Given the description of an element on the screen output the (x, y) to click on. 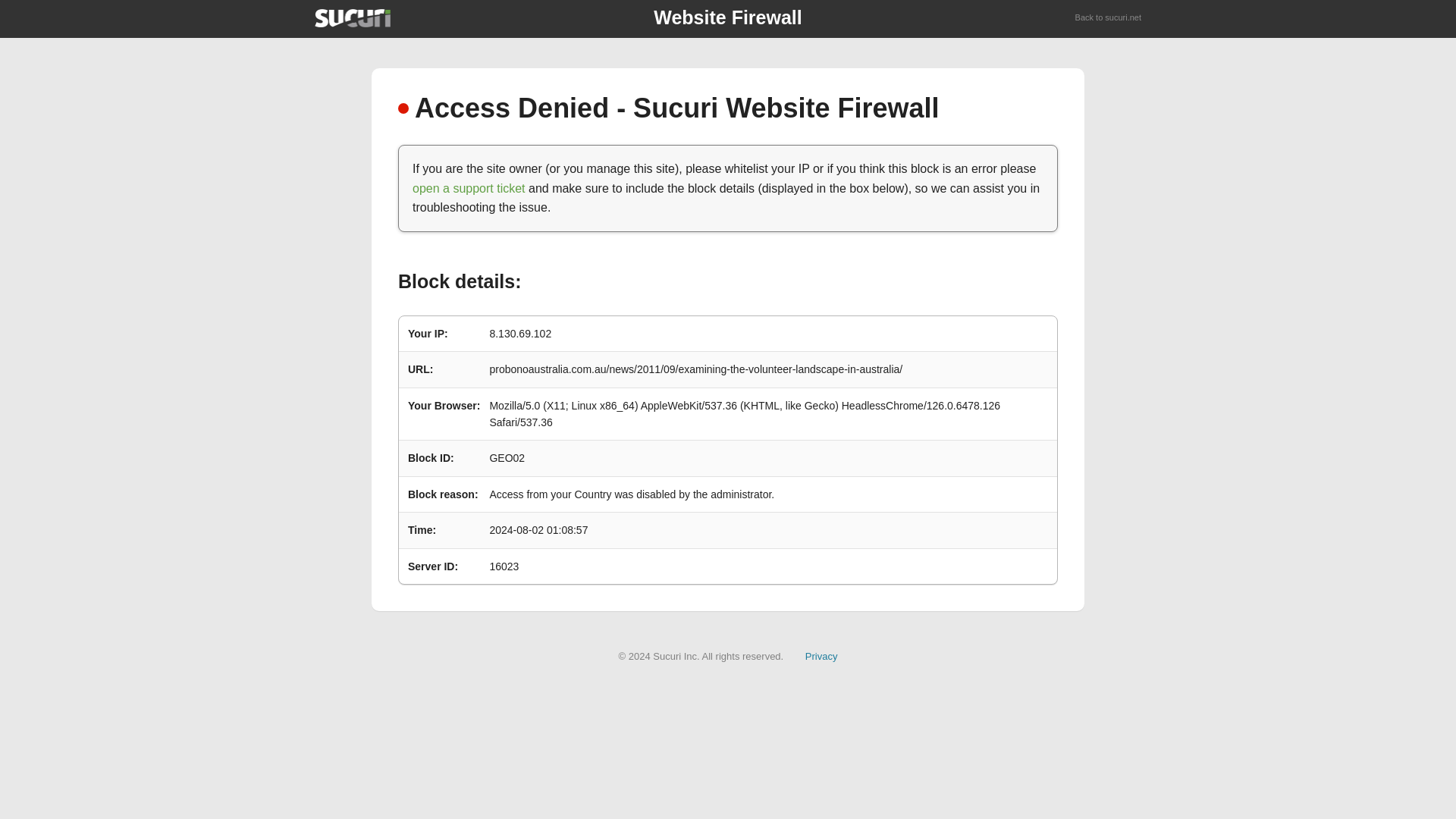
open a support ticket (468, 187)
Back to sucuri.net (1108, 18)
Privacy (821, 655)
